Given the description of an element on the screen output the (x, y) to click on. 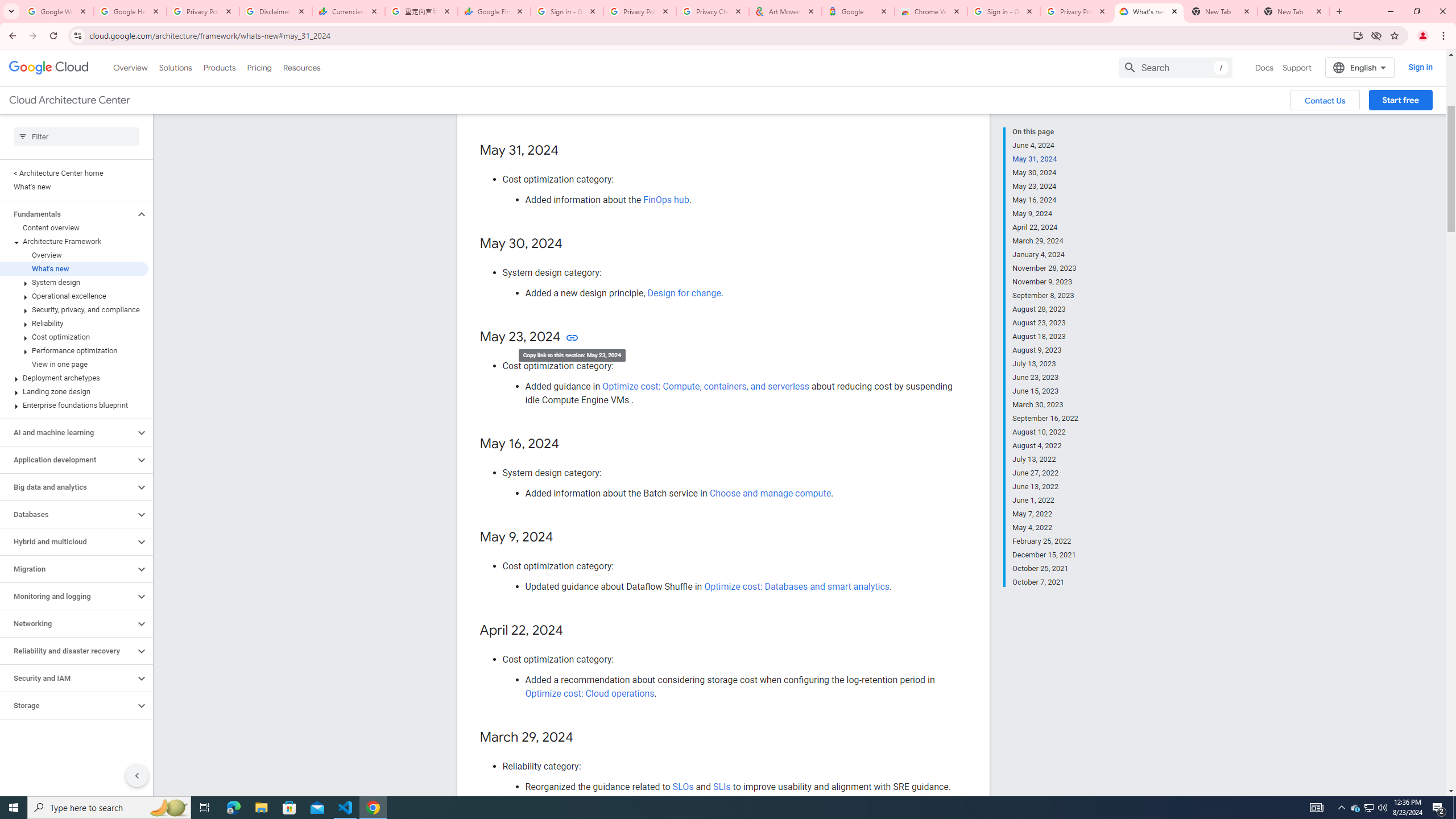
Enterprise foundations blueprint (74, 404)
Start free (1400, 100)
July 13, 2023 (1044, 364)
Deployment archetypes (74, 377)
Security and IAM (67, 678)
May 16, 2024 (1044, 200)
Copy link to this section: May 16, 2024 (570, 444)
Google Cloud (48, 67)
June 1, 2022 (1044, 499)
Storage (67, 705)
May 31, 2024 (1044, 159)
Reliability and disaster recovery (67, 650)
